Given the description of an element on the screen output the (x, y) to click on. 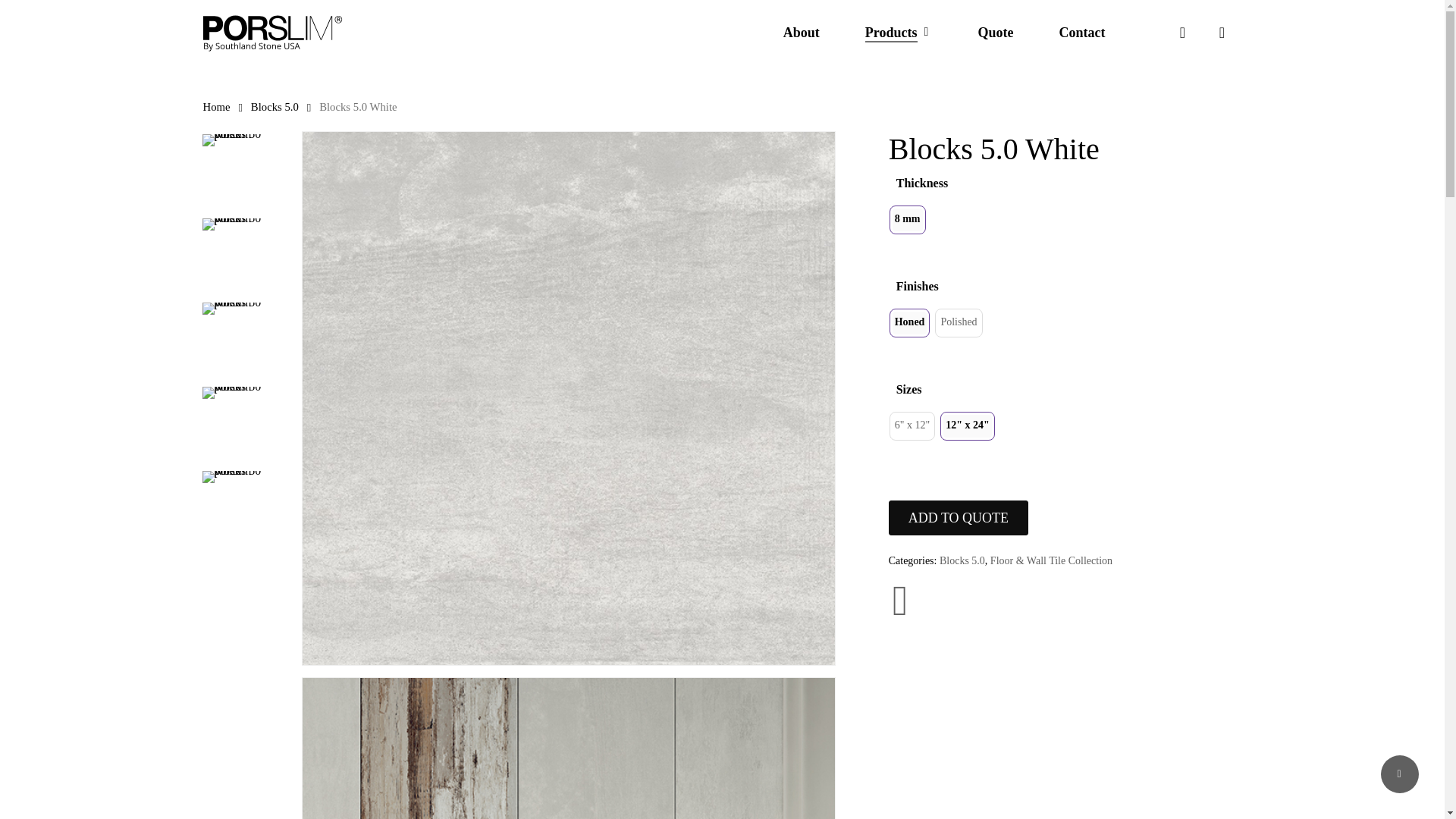
About (801, 32)
Products (898, 32)
